Given the description of an element on the screen output the (x, y) to click on. 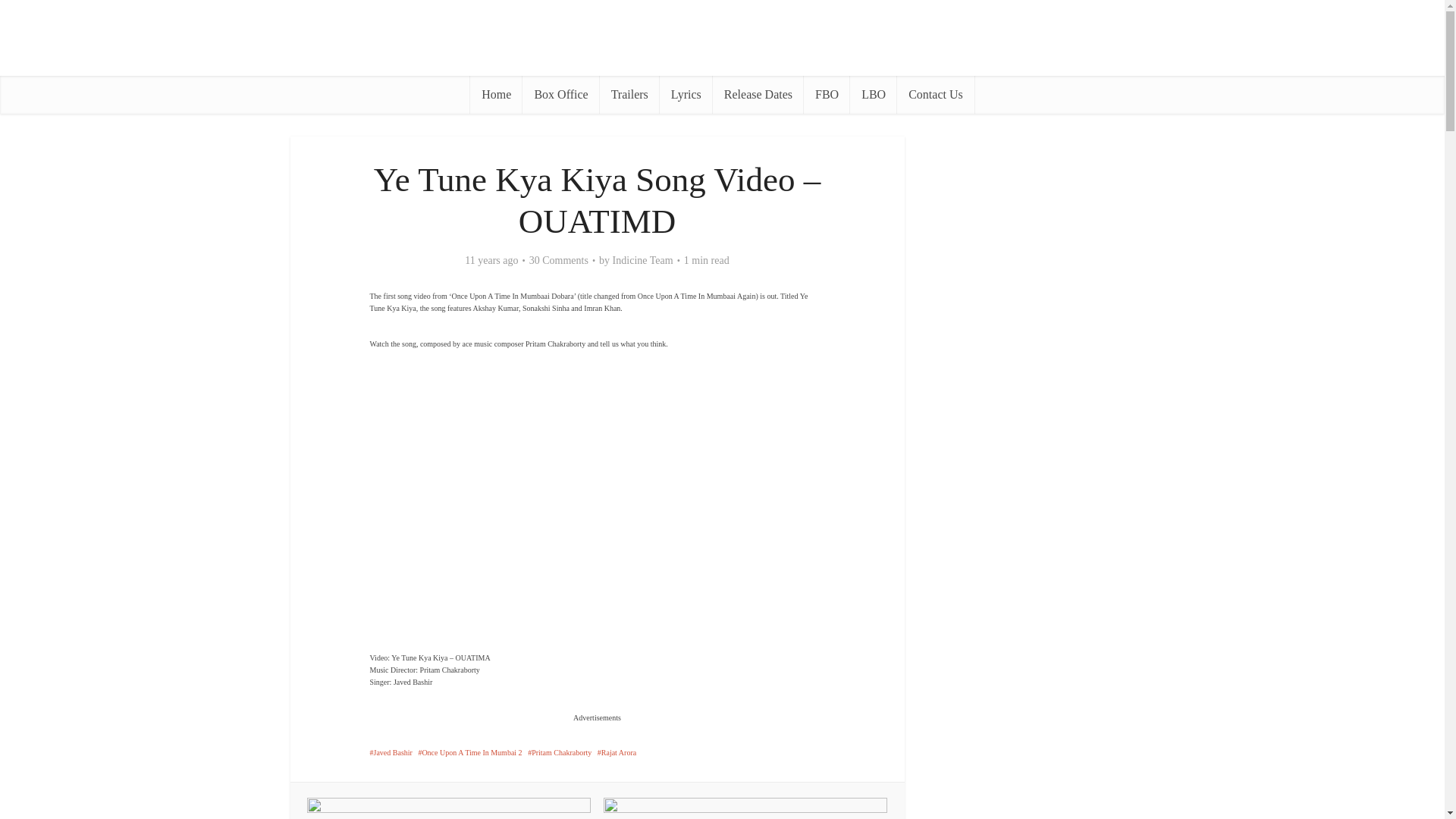
Once Upon A Time In Mumbai 2 (469, 752)
Rajat Arora (616, 752)
30 Comments (558, 260)
Javed Bashir (390, 752)
Release Dates (758, 94)
FBO (826, 94)
Pritam Chakraborty (559, 752)
Lyrics (686, 94)
Dedh Ishqiya Release Date and Stills (449, 808)
Trailers (629, 94)
